Given the description of an element on the screen output the (x, y) to click on. 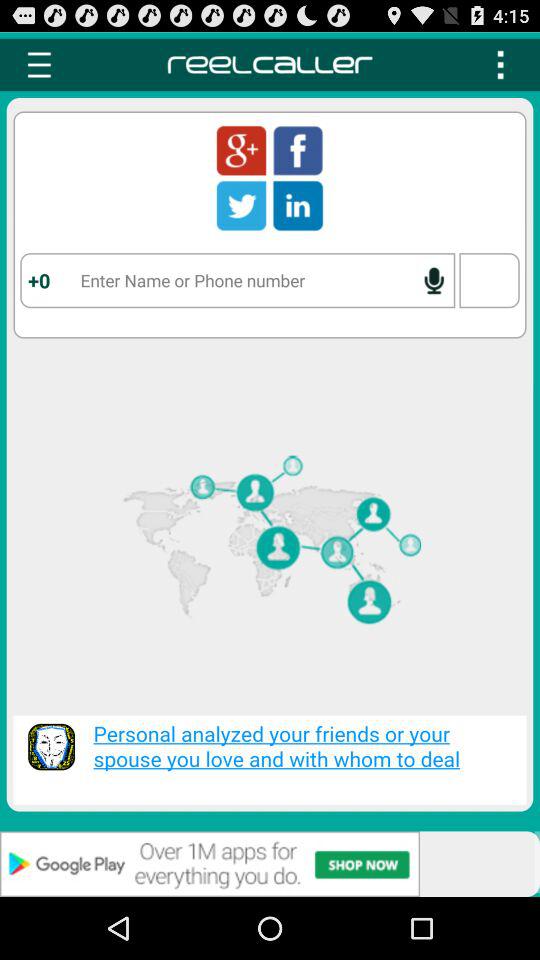
click more options (500, 64)
